Given the description of an element on the screen output the (x, y) to click on. 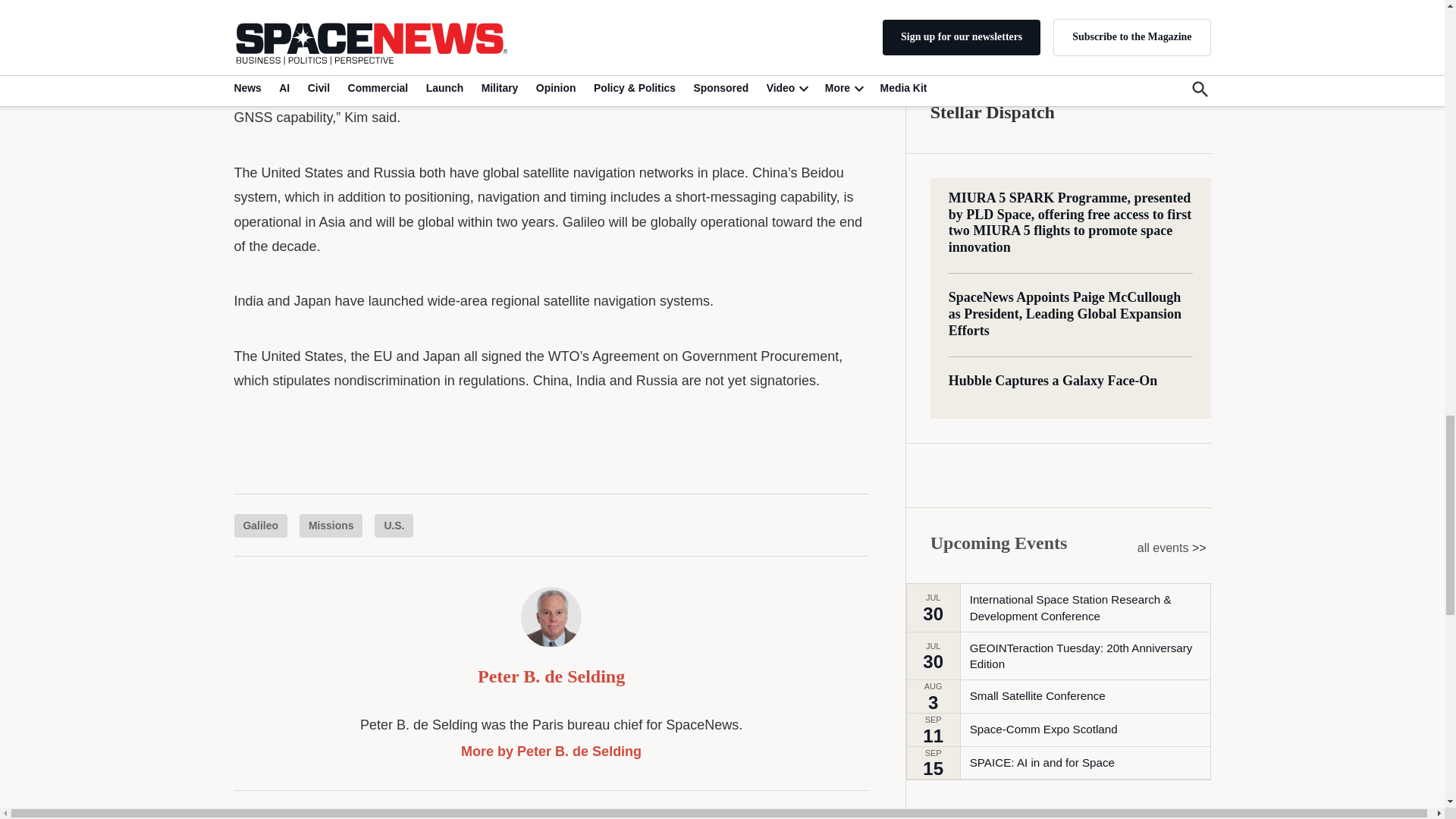
Click to share on LinkedIn (319, 816)
Click to email a link to a friend (386, 816)
Click to share on Facebook (286, 816)
Click to share on Clipboard (419, 816)
Click to share on Reddit (352, 816)
Click to share on X (253, 816)
